Given the description of an element on the screen output the (x, y) to click on. 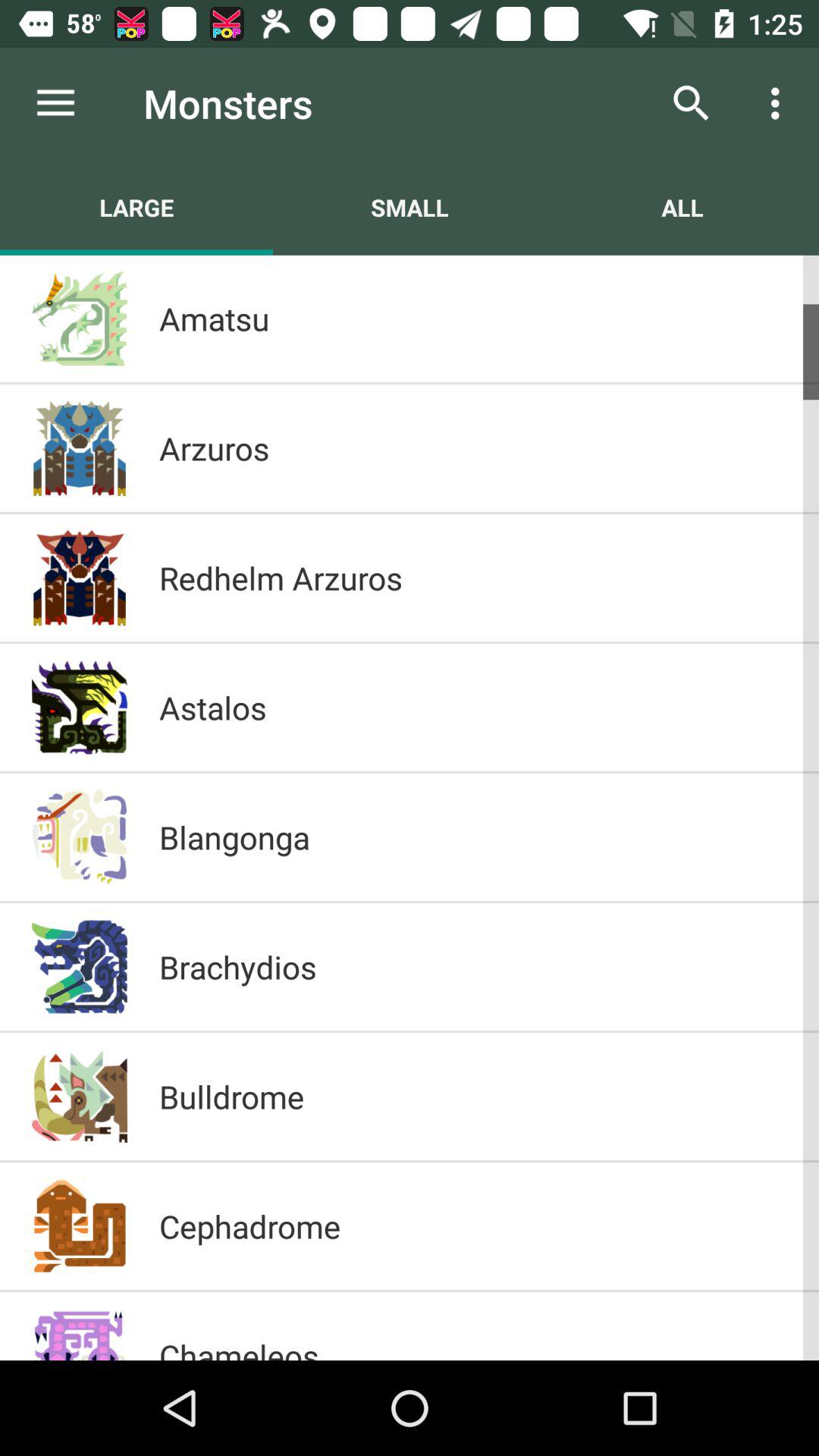
choose item below the redhelm arzuros item (473, 707)
